Given the description of an element on the screen output the (x, y) to click on. 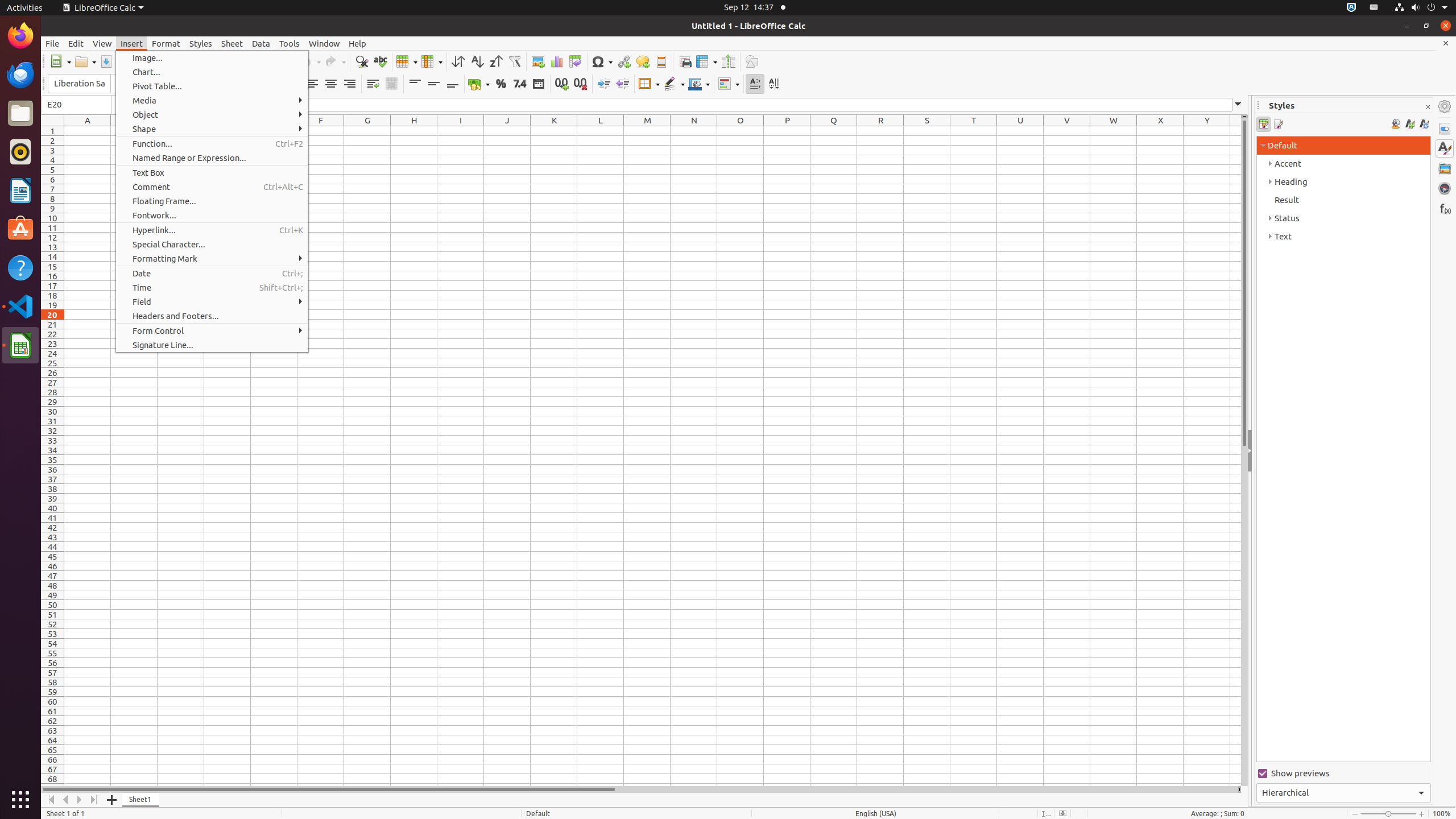
LibreOffice Calc Element type: menu (102, 7)
Borders (Shift to overwrite) Element type: push-button (648, 83)
Visual Studio Code Element type: push-button (20, 306)
Row Element type: push-button (406, 61)
Split Window Element type: push-button (727, 61)
